Given the description of an element on the screen output the (x, y) to click on. 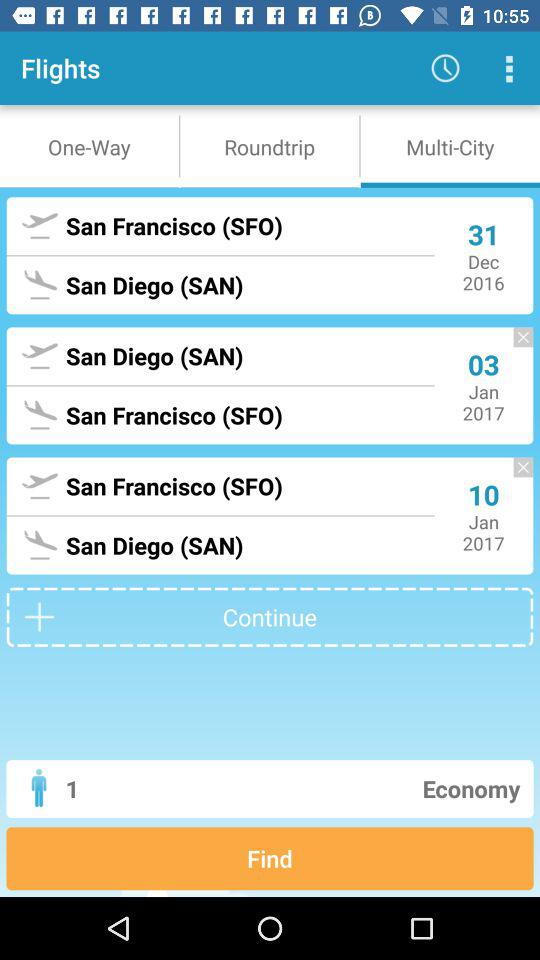
remove january 3 flight (513, 346)
